Given the description of an element on the screen output the (x, y) to click on. 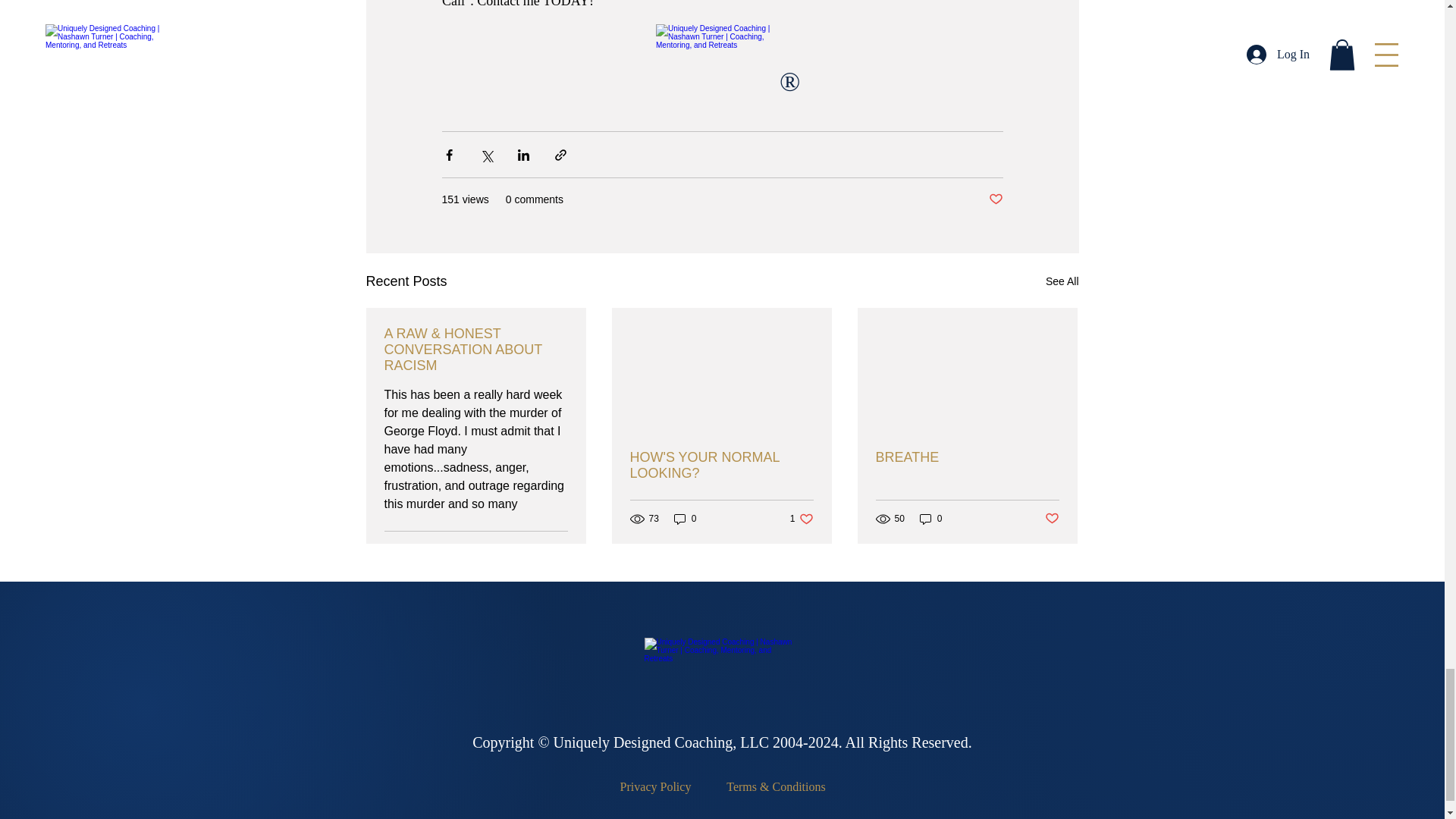
Privacy Policy (656, 787)
0 (801, 518)
BREATHE (685, 518)
HOW'S YOUR NORMAL LOOKING? (966, 457)
Post not marked as liked (720, 465)
0 (1052, 519)
See All (930, 518)
7 likes. Post not marked as liked (1061, 281)
Post not marked as liked (555, 549)
Uniquely Designed Coaching (995, 199)
